Given the description of an element on the screen output the (x, y) to click on. 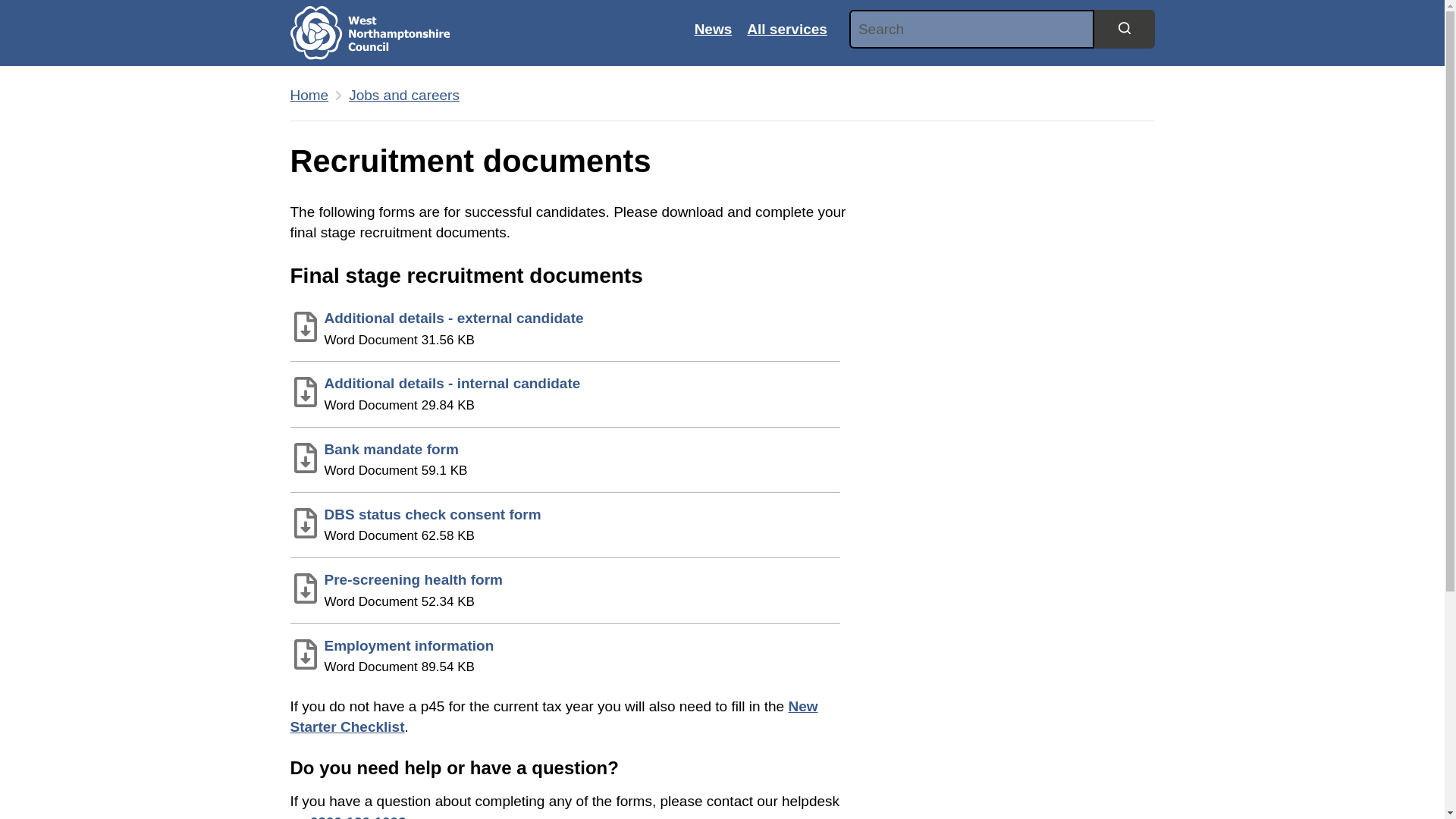
Search (1123, 28)
Jobs and careers (404, 94)
Home (309, 94)
Home (309, 94)
All services (786, 29)
Skip to main content (564, 519)
Jobs and careers (11, 7)
